Given the description of an element on the screen output the (x, y) to click on. 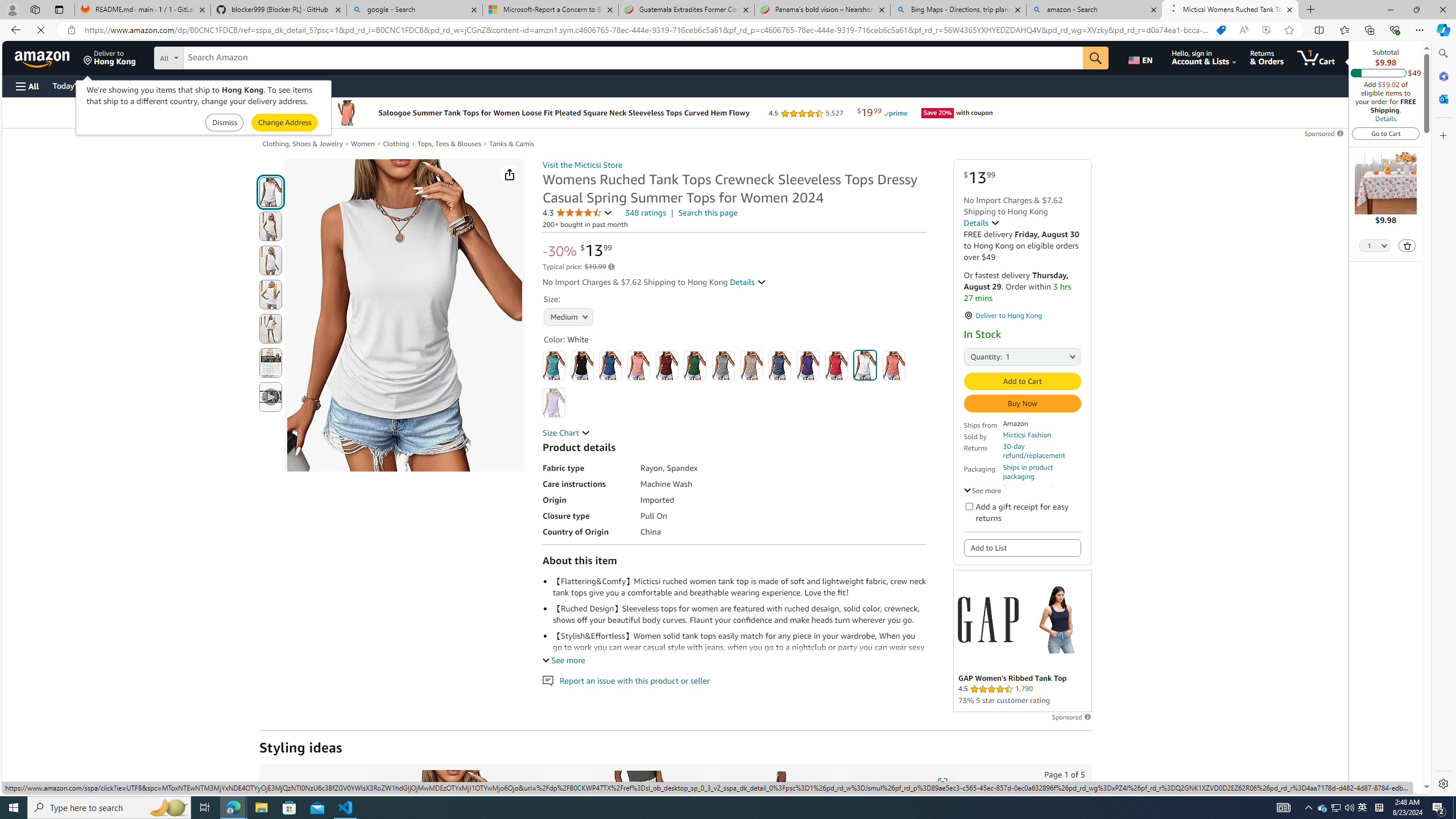
Submit (284, 122)
Deliver to Hong Kong (109, 57)
Tanks & Camis (511, 143)
Go to Cart (1385, 133)
Tops, Tees & Blouses (453, 144)
Share (509, 174)
Returns & Orders (1266, 57)
White (865, 364)
Red (836, 365)
